Given the description of an element on the screen output the (x, y) to click on. 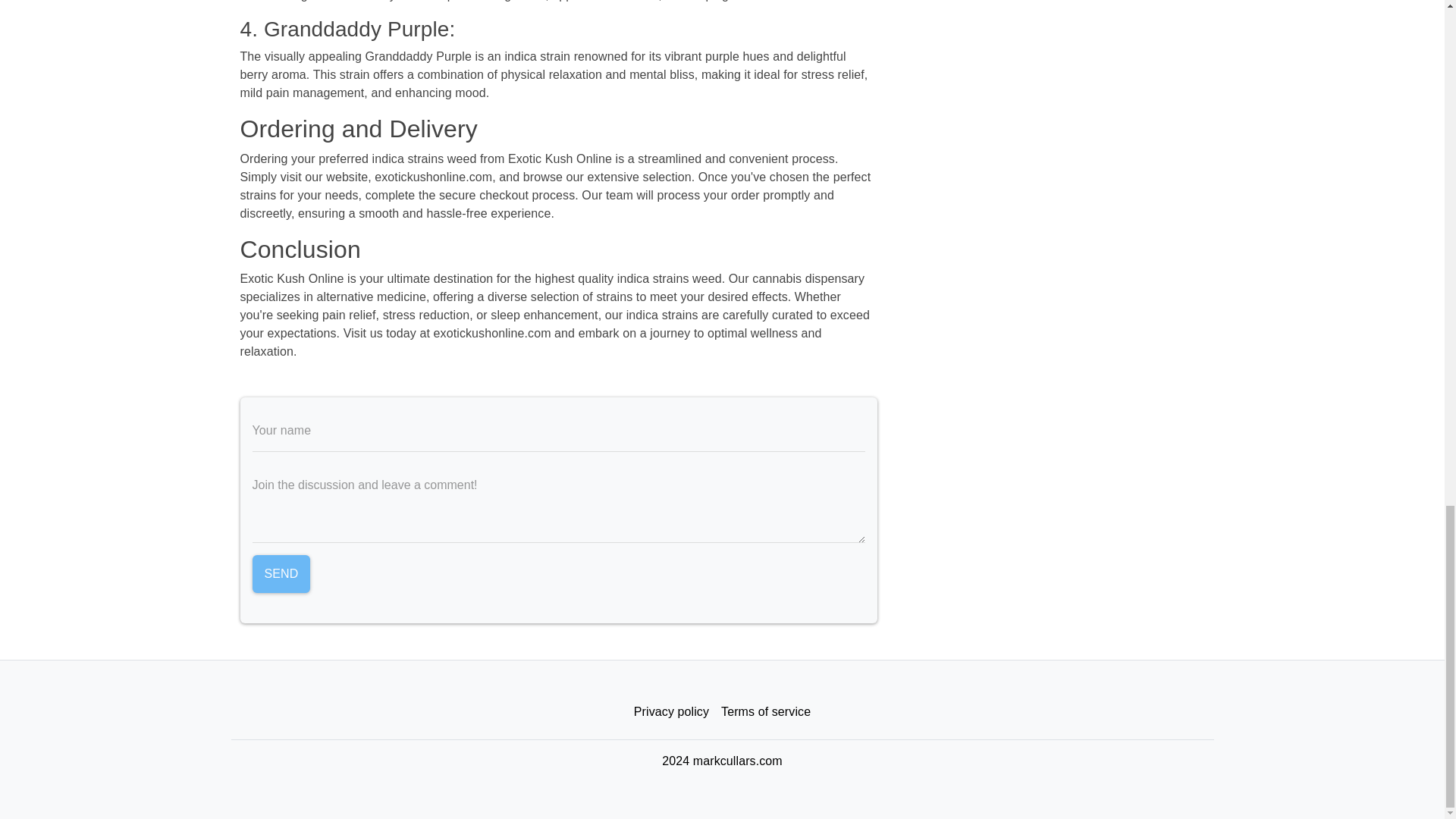
Send (280, 573)
Send (280, 573)
Terms of service (765, 711)
Privacy policy (670, 711)
